Given the description of an element on the screen output the (x, y) to click on. 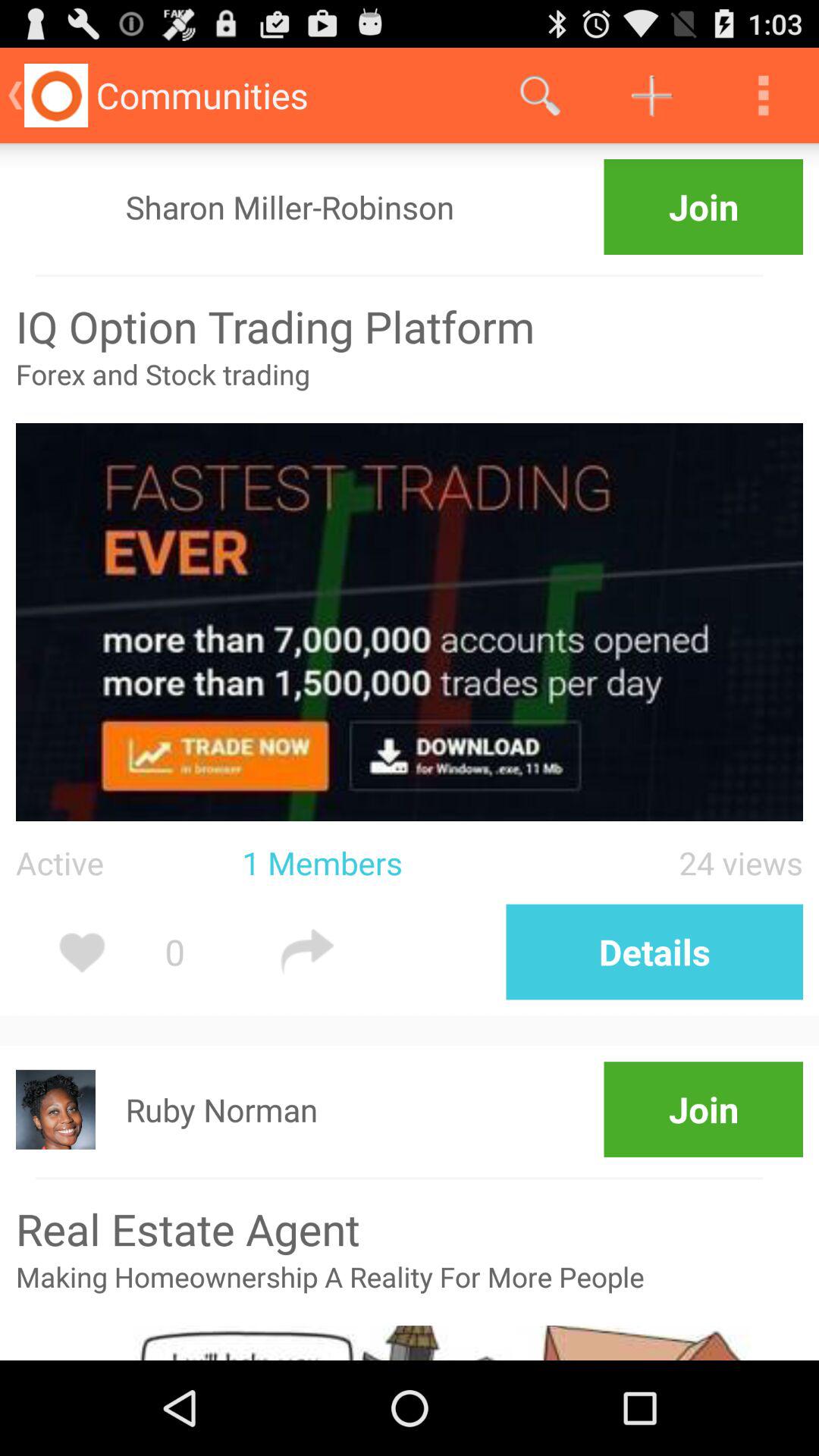
turn off the making homeownership a app (409, 1291)
